Given the description of an element on the screen output the (x, y) to click on. 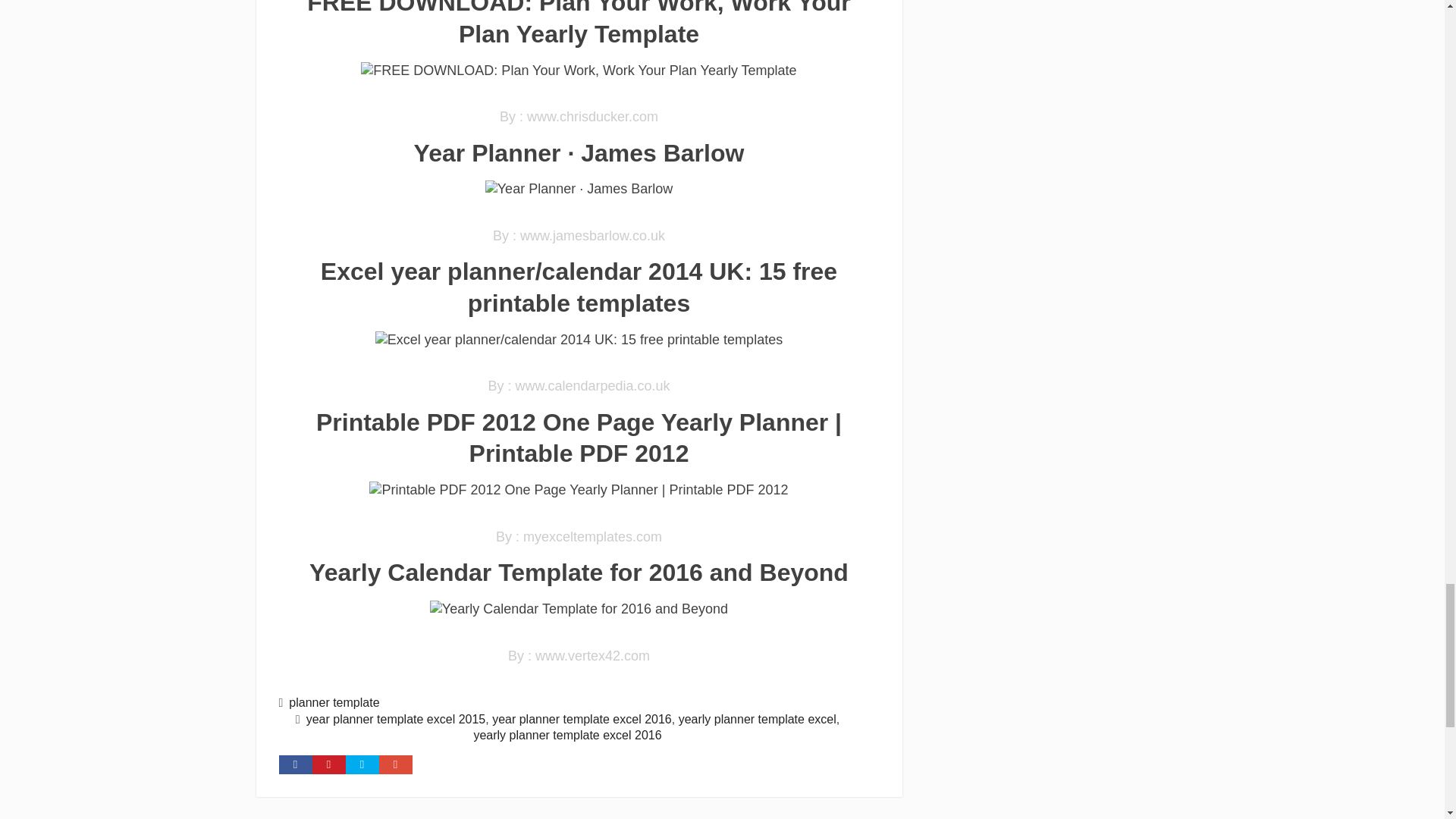
yearly planner template excel (756, 718)
planner template (333, 702)
yearly planner template excel 2016 (567, 735)
year planner template excel 2016 (581, 718)
year planner template excel 2015 (395, 718)
Yearly Calendar Template for 2016 and Beyond (578, 609)
